Given the description of an element on the screen output the (x, y) to click on. 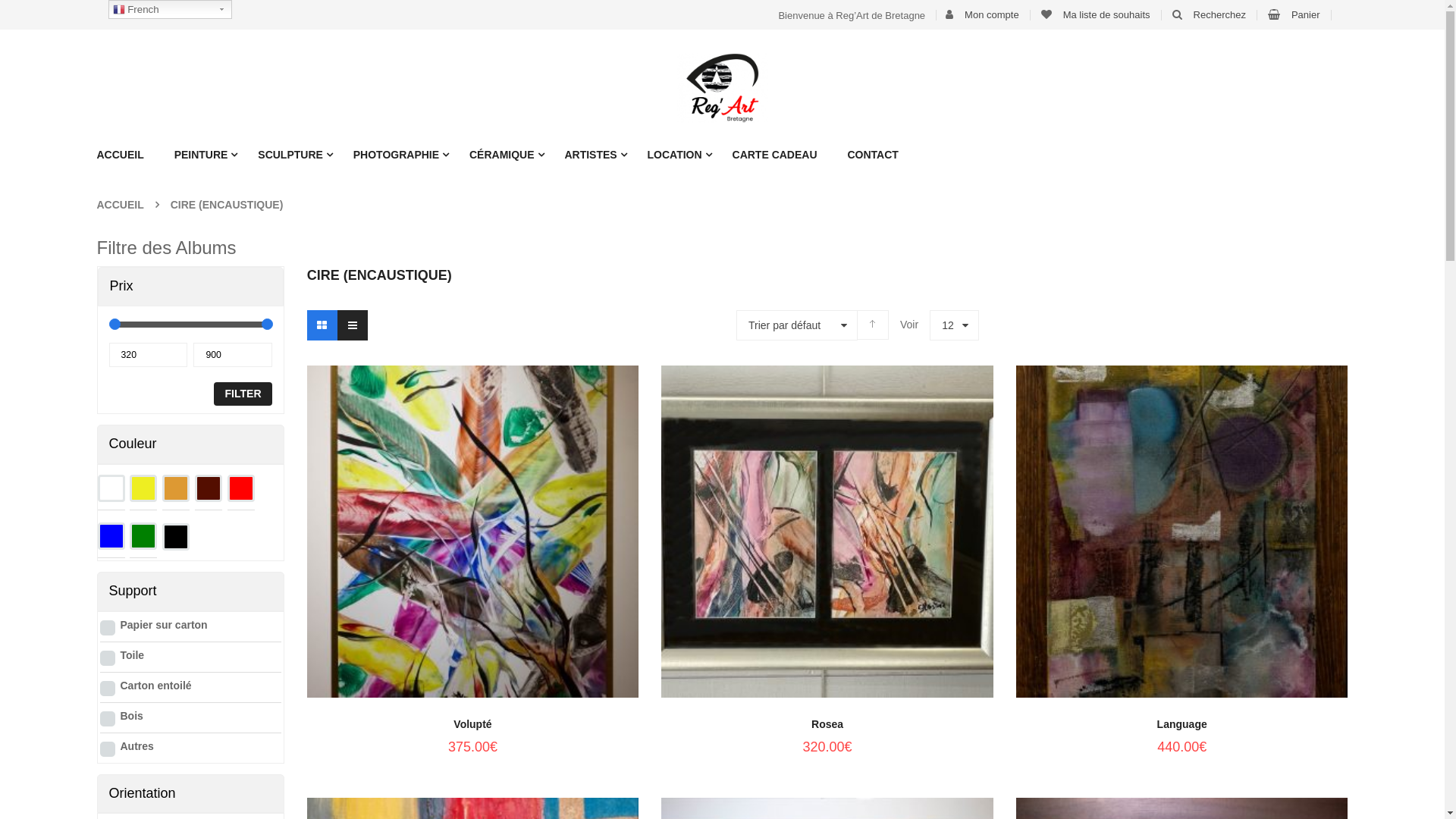
Rosea Element type: text (827, 724)
PHOTOGRAPHIE Element type: text (395, 154)
CARTE CADEAU Element type: text (774, 154)
PEINTURE Element type: text (200, 154)
Quick View Element type: text (1182, 501)
12 Element type: text (954, 324)
ACCUEIL Element type: text (120, 204)
Quick View Element type: text (472, 501)
ARTISTES Element type: text (590, 154)
LOCATION Element type: text (674, 154)
List view Element type: hover (352, 325)
ACCUEIL Element type: text (127, 154)
Ma liste de souhaits Element type: text (1106, 14)
Quick View Element type: text (827, 501)
Grid view Element type: hover (322, 325)
FILTER Element type: text (242, 394)
Recherchez Element type: text (1219, 14)
French Element type: text (169, 9)
Mon compte Element type: text (991, 14)
Language Element type: text (1182, 724)
SCULPTURE Element type: text (290, 154)
Panier Element type: text (1305, 14)
CONTACT Element type: text (872, 154)
